Given the description of an element on the screen output the (x, y) to click on. 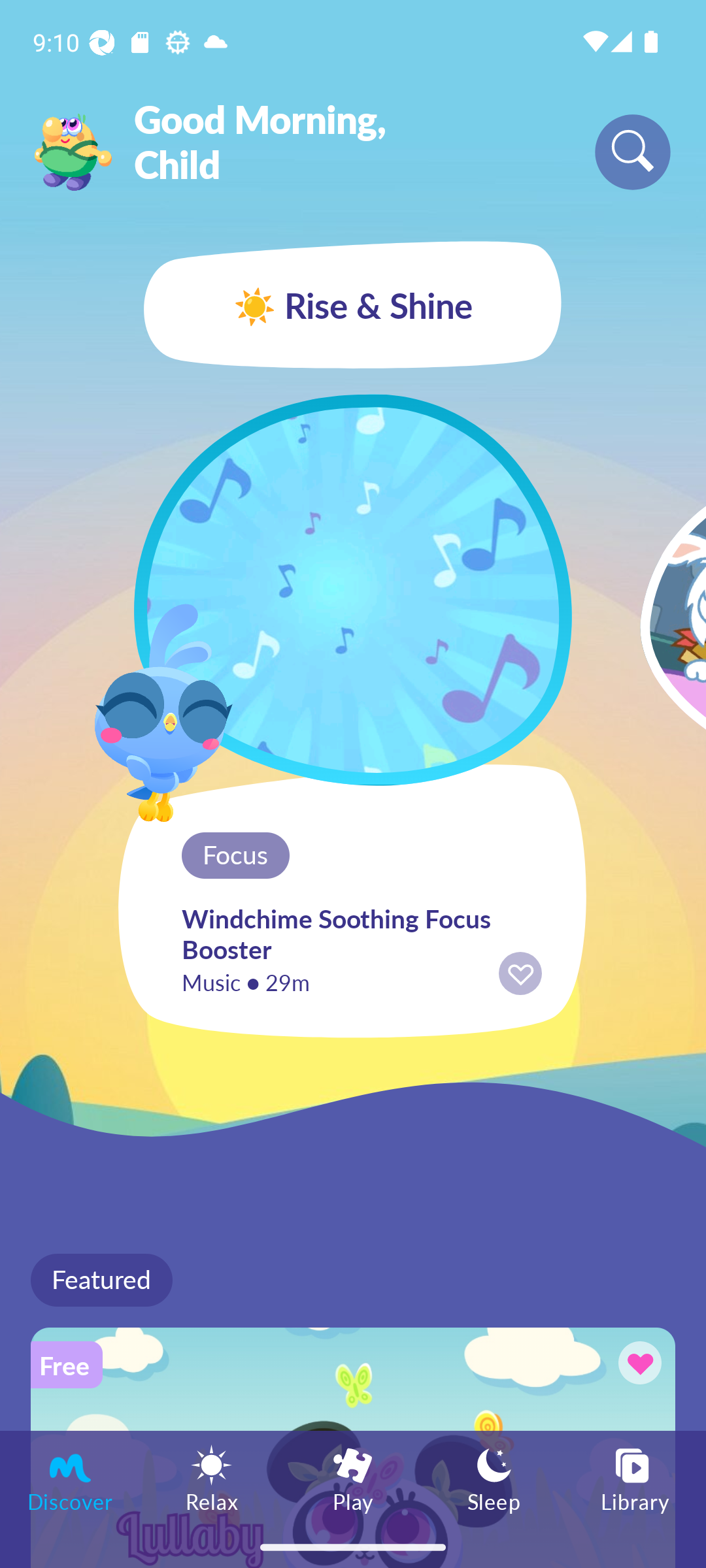
Search (632, 151)
action (520, 973)
Button (636, 1365)
Relax (211, 1478)
Play (352, 1478)
Sleep (493, 1478)
Library (635, 1478)
